Given the description of an element on the screen output the (x, y) to click on. 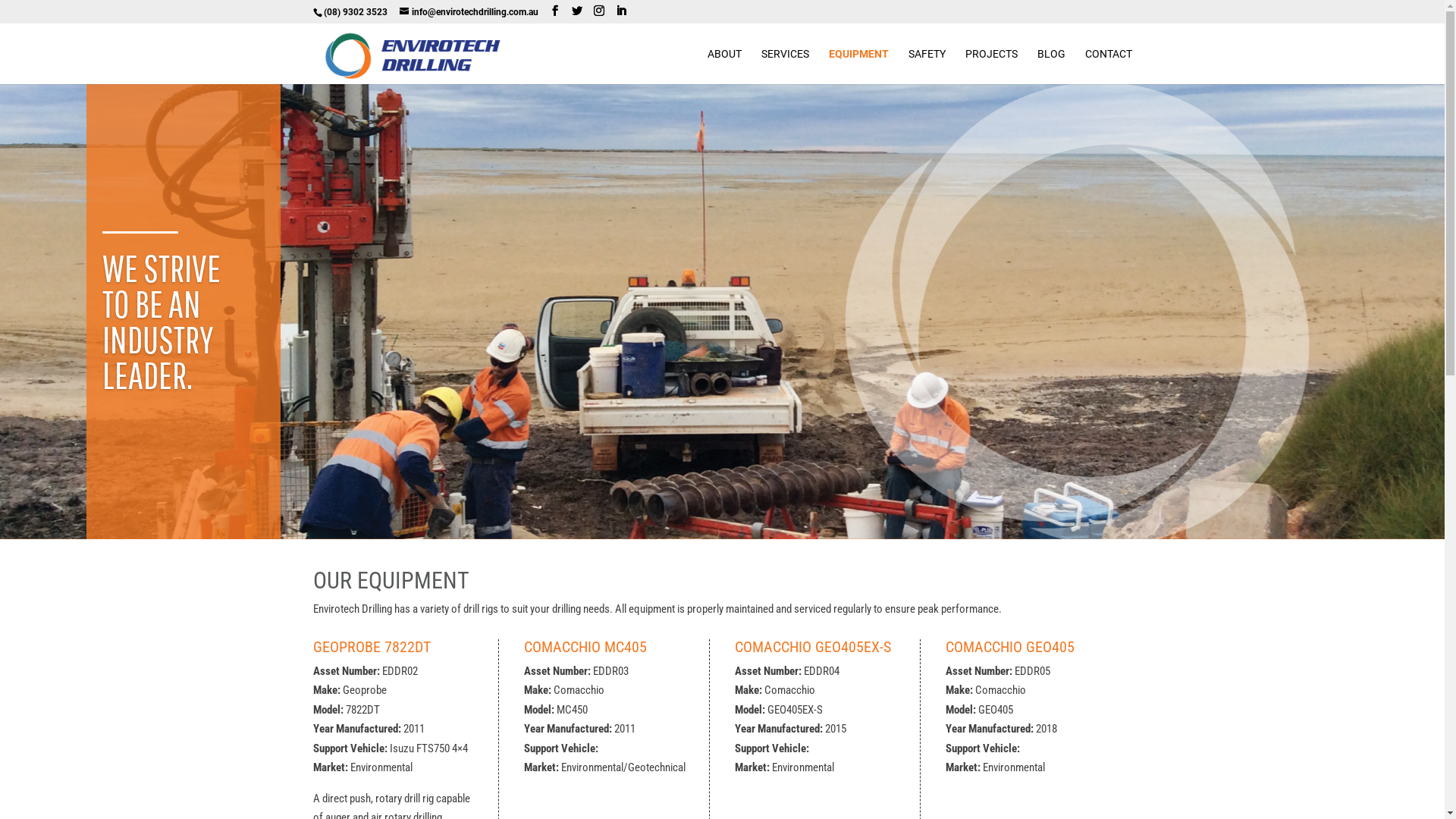
SERVICES Element type: text (785, 66)
PROJECTS Element type: text (990, 66)
ABOUT Element type: text (723, 66)
EQUIPMENT Element type: text (858, 66)
SAFETY Element type: text (926, 66)
info@envirotechdrilling.com.au Element type: text (467, 11)
CONTACT Element type: text (1107, 66)
BLOG Element type: text (1051, 66)
